Given the description of an element on the screen output the (x, y) to click on. 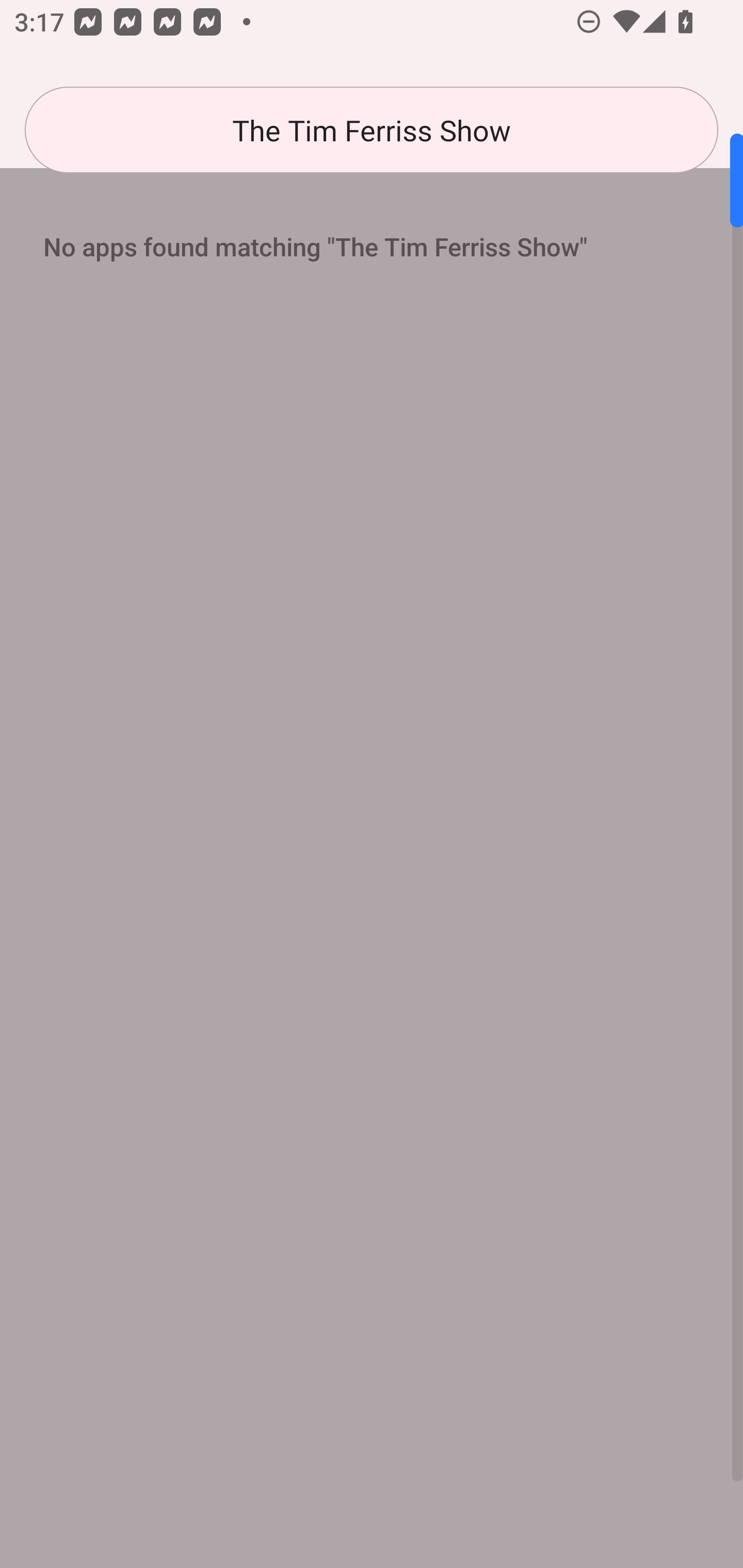
The Tim Ferriss Show (371, 130)
